Given the description of an element on the screen output the (x, y) to click on. 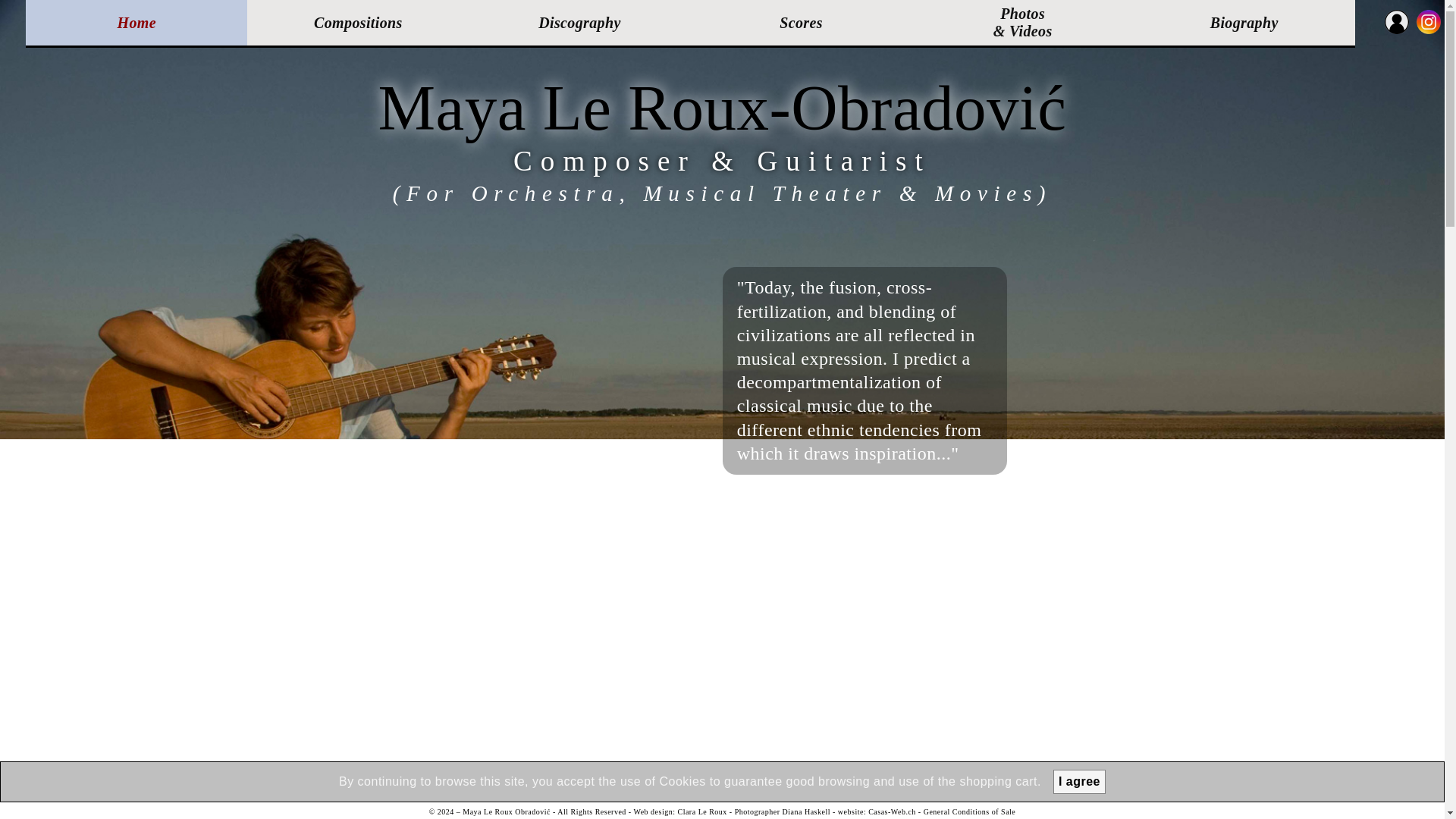
Casas-Web.ch (891, 811)
My account (1396, 21)
General Conditions of Sale (969, 811)
Clara Le Roux (701, 811)
Diana Haskell (806, 811)
